Given the description of an element on the screen output the (x, y) to click on. 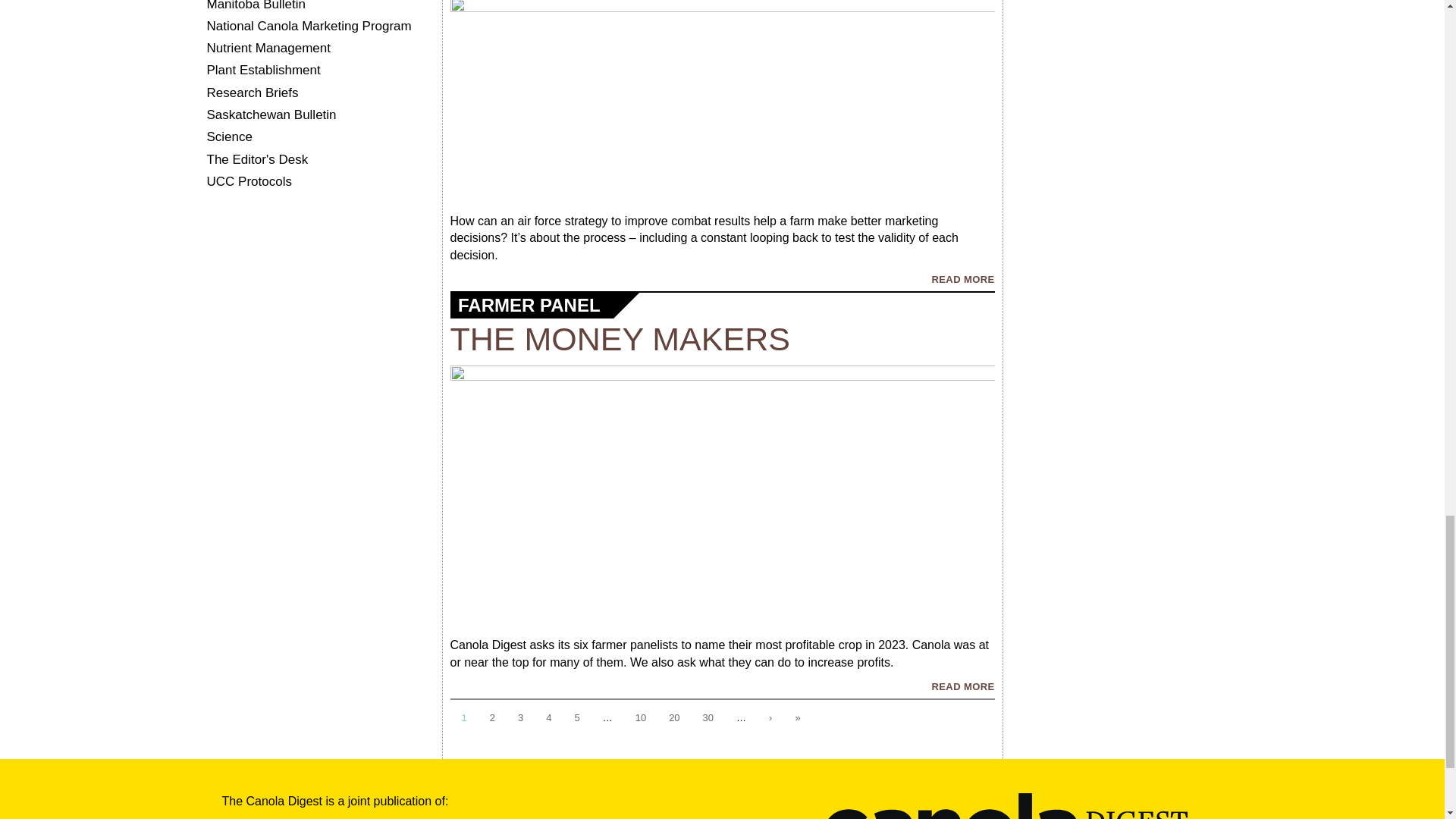
Page 4 (548, 718)
Page 5 (576, 718)
Page 2 (492, 718)
Page 3 (520, 718)
